Given the description of an element on the screen output the (x, y) to click on. 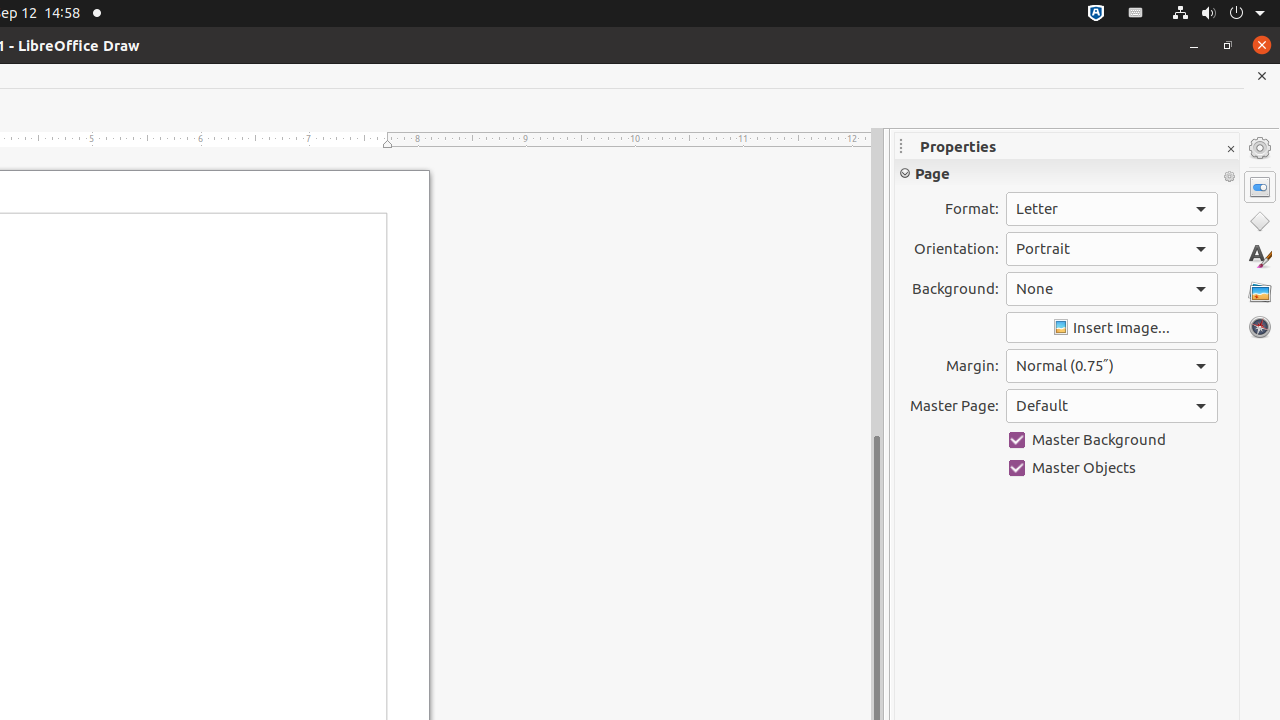
Properties Element type: radio-button (1260, 187)
System Element type: menu (1218, 13)
